Given the description of an element on the screen output the (x, y) to click on. 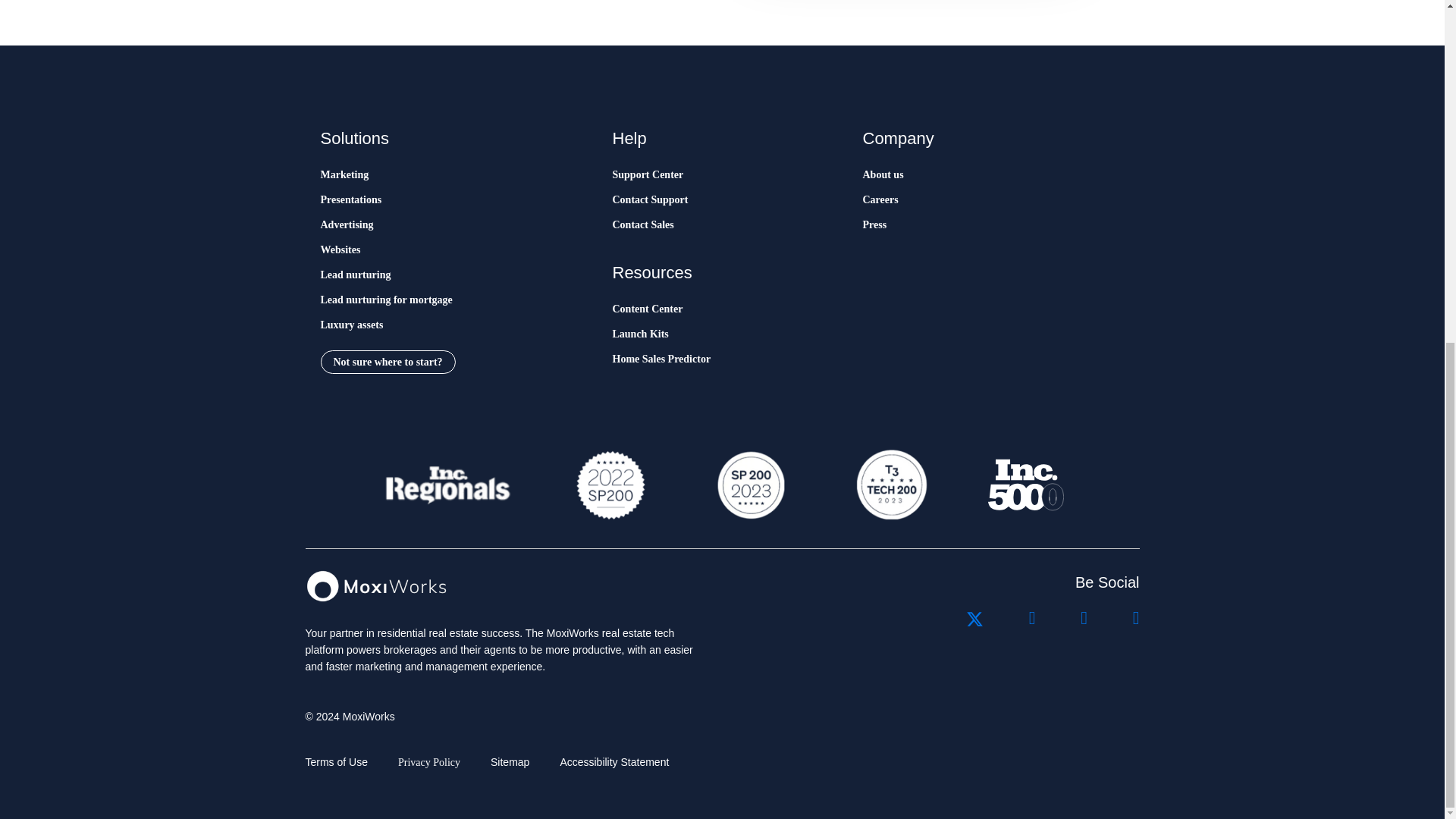
SP 2022 (610, 484)
SP 2023 (749, 484)
T3 tech 200 2023 (890, 484)
